Given the description of an element on the screen output the (x, y) to click on. 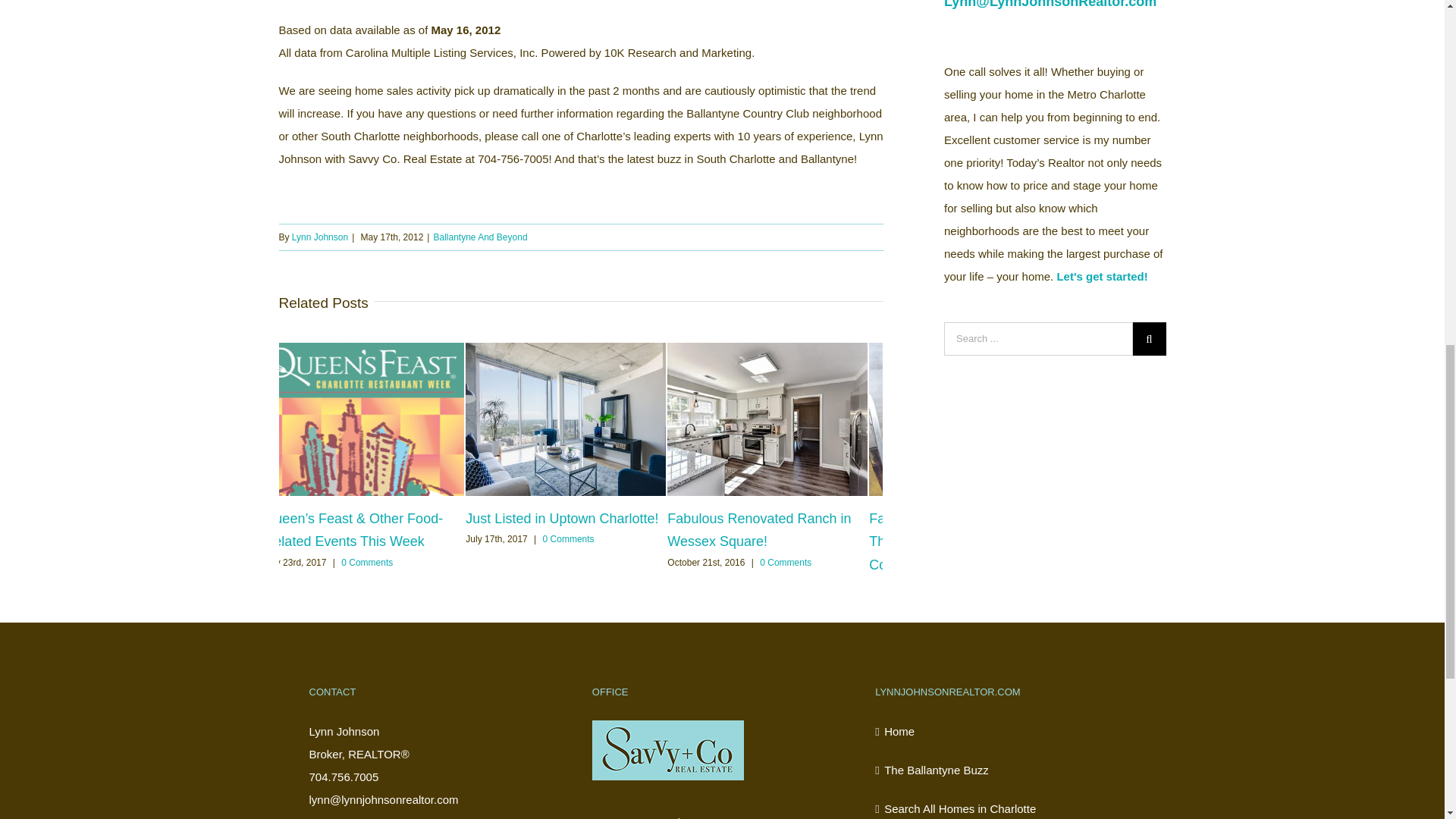
0 Comments (366, 561)
Ballantyne And Beyond (479, 236)
Posts by Lynn Johnson (319, 236)
Lynn Johnson (319, 236)
0 Comments (785, 561)
0 Comments (568, 538)
Just Listed in Uptown Charlotte! (561, 518)
Fabulous Renovated Ranch in Wessex Square! (758, 529)
